Given the description of an element on the screen output the (x, y) to click on. 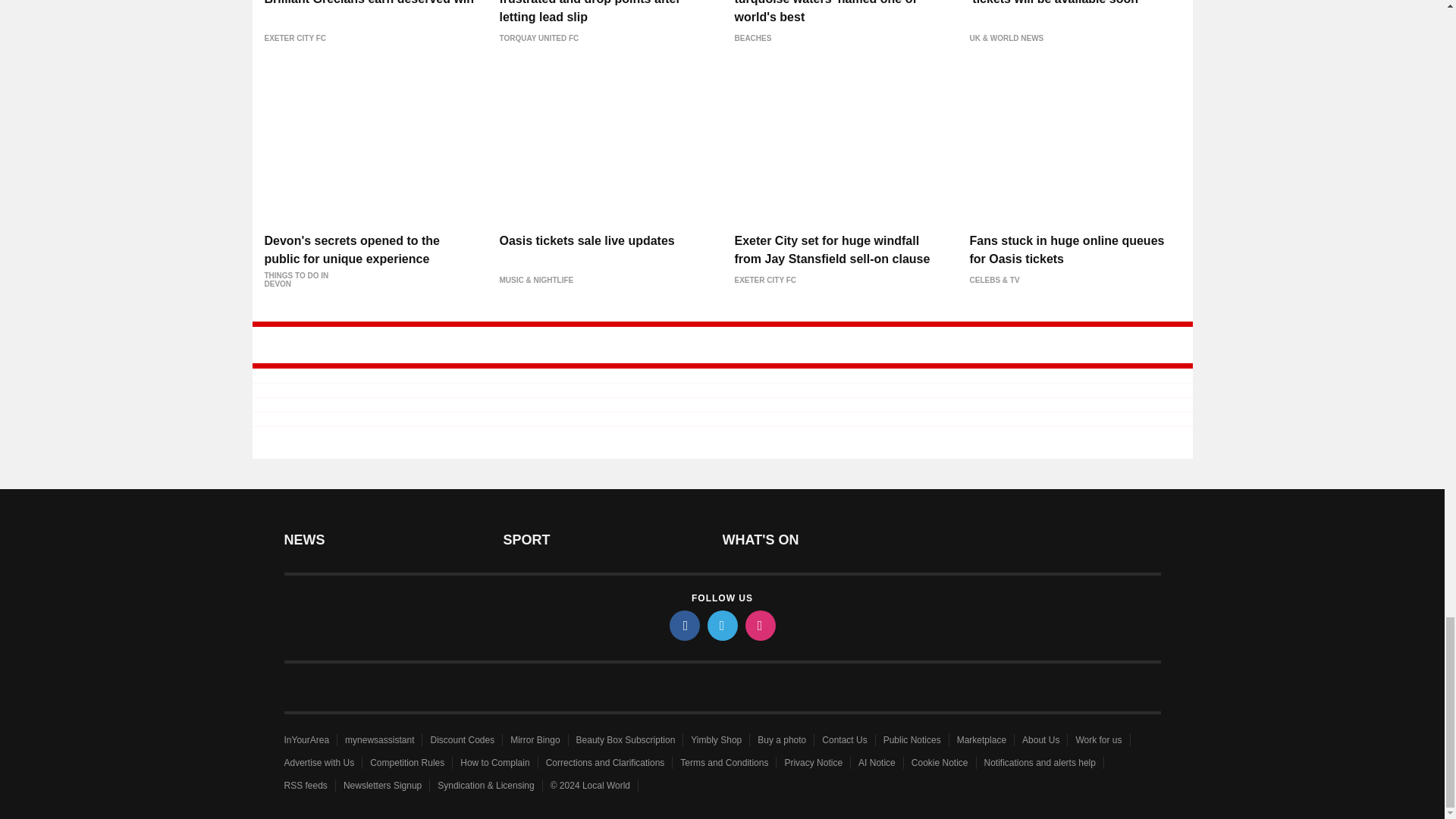
instagram (759, 625)
twitter (721, 625)
facebook (683, 625)
